Given the description of an element on the screen output the (x, y) to click on. 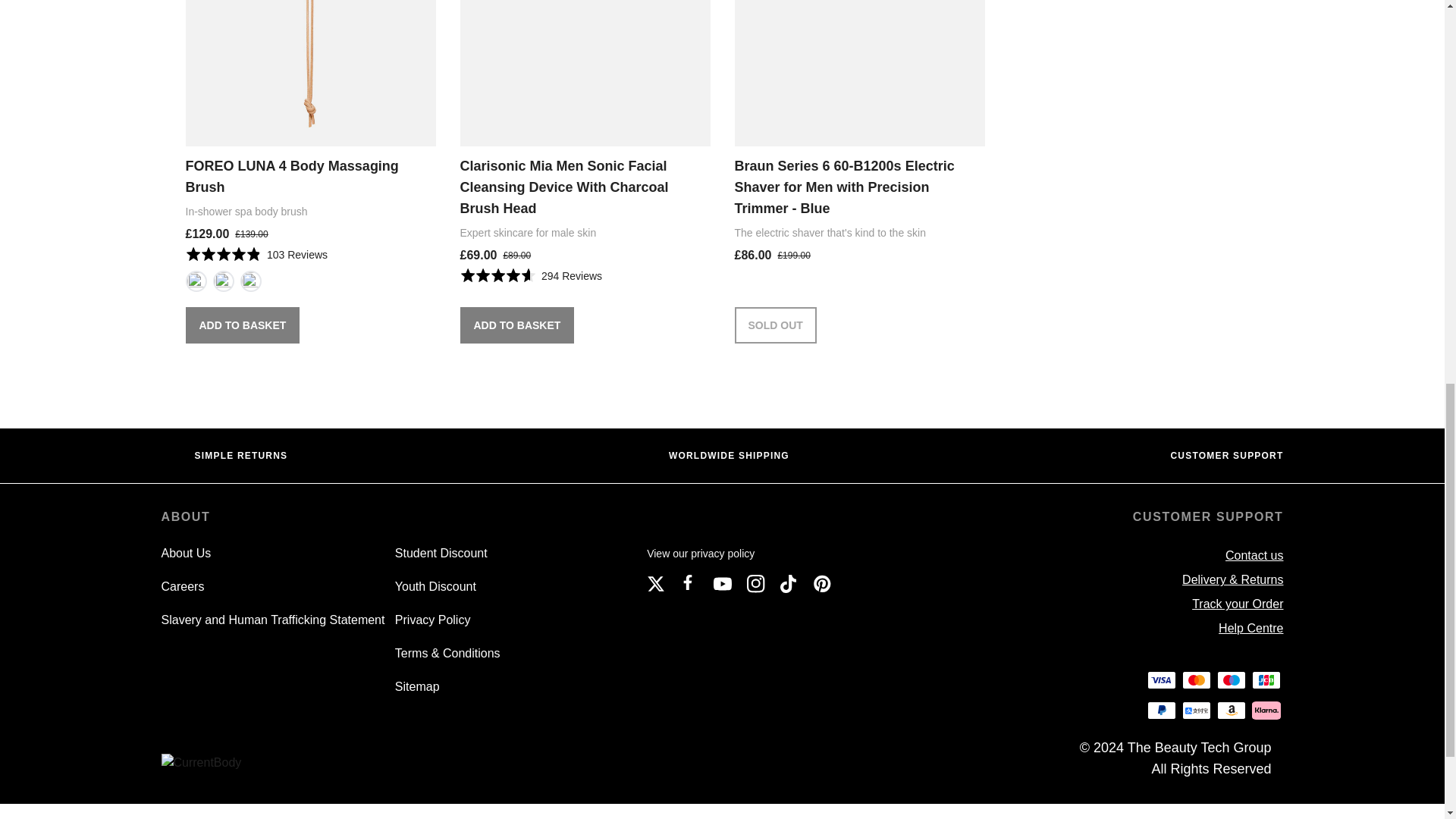
CurrentBody on Pinterest (822, 583)
CurrentBody on Facebook (688, 583)
CurrentBody on Instagram (755, 583)
CurrentBody on Twitter (655, 583)
CurrentBody on TikTok (788, 583)
CurrentBody on YouTube (722, 583)
